Given the description of an element on the screen output the (x, y) to click on. 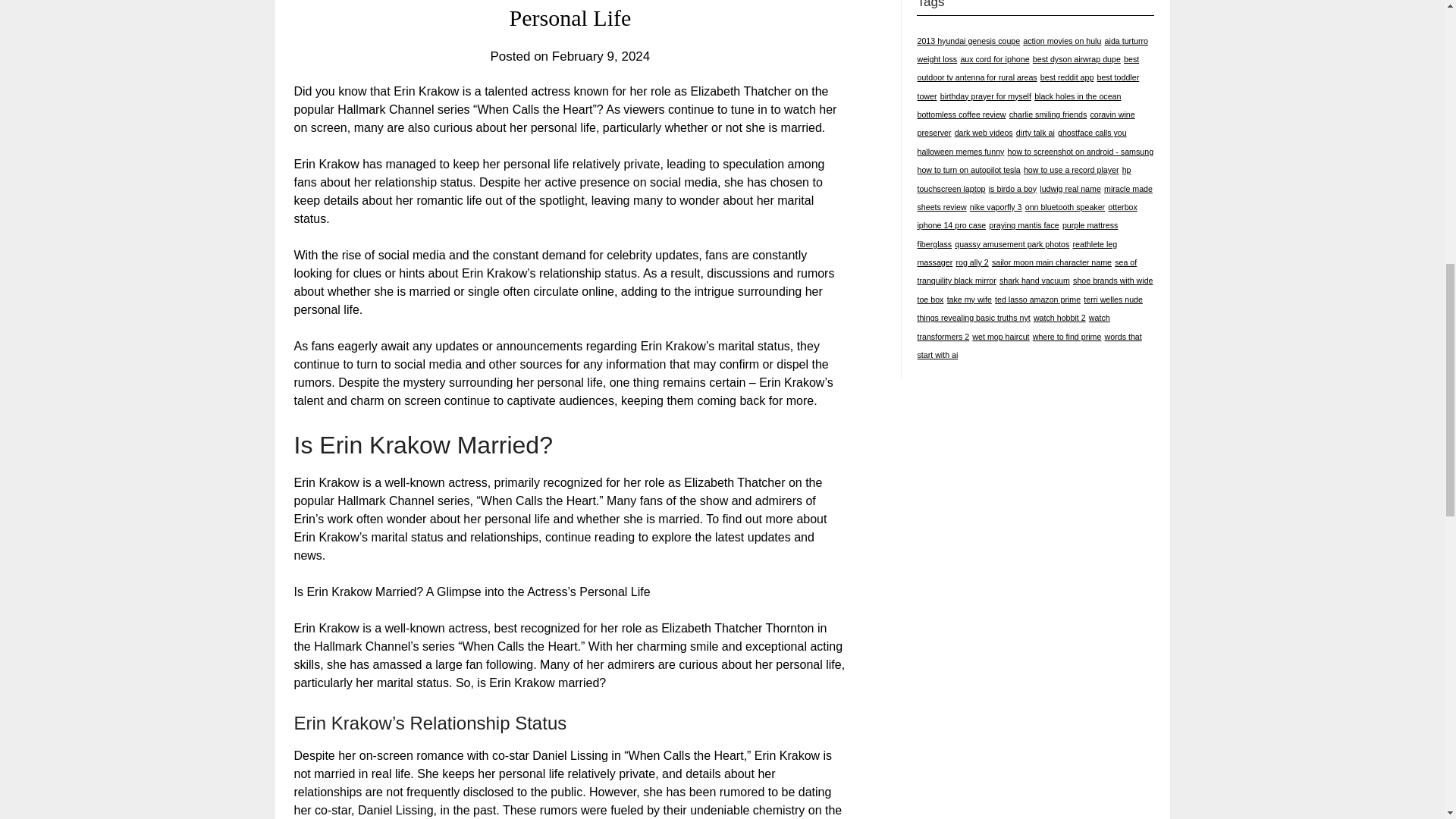
ghostface calls you (1092, 132)
aida turturro weight loss (1032, 49)
best dyson airwrap dupe (1076, 58)
black holes in the ocean (1077, 95)
aux cord for iphone (994, 58)
halloween memes funny (960, 151)
dark web videos (984, 132)
birthday prayer for myself (985, 95)
how to screenshot on android - samsung (1080, 151)
charlie smiling friends (1047, 113)
best reddit app (1067, 76)
bottomless coffee review (961, 113)
coravin wine preserver (1025, 123)
best toddler tower (1027, 85)
2013 hyundai genesis coupe (968, 40)
